Given the description of an element on the screen output the (x, y) to click on. 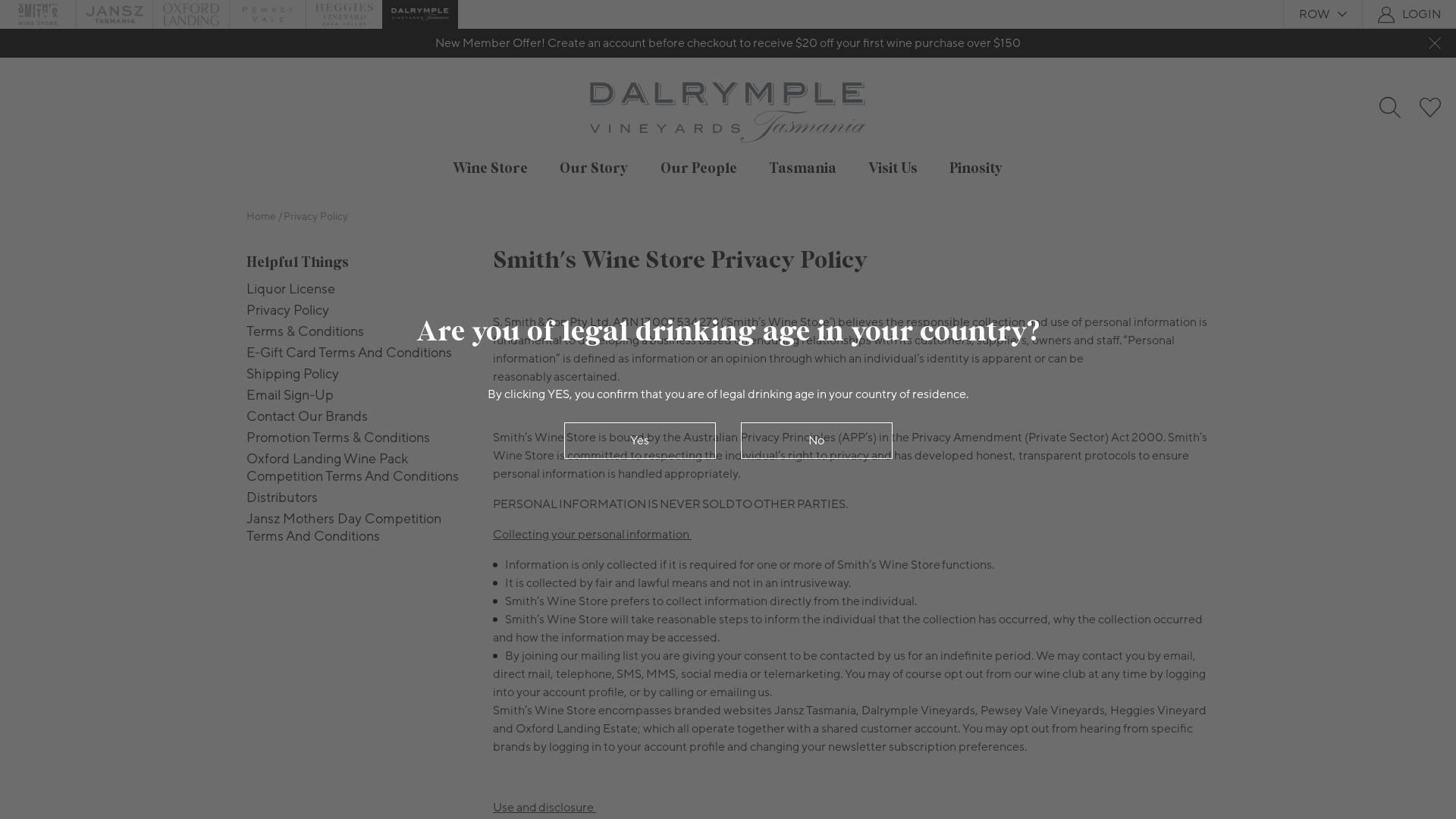
Our People Element type: text (698, 168)
Tasmania Element type: text (802, 168)
Promotion Terms & Conditions Element type: text (358, 437)
E-Gift Card Terms And Conditions Element type: text (358, 352)
Smiths Wine Store Element type: hover (37, 14)
No Element type: text (815, 439)
Smiths Wine Store Element type: hover (37, 14)
Shipping Policy Element type: text (358, 373)
Jansz Tasmania Element type: hover (114, 14)
LOGIN Element type: text (1421, 14)
Terms & Conditions Element type: text (358, 331)
Heggies Vineyard Element type: hover (343, 14)
Contact Our Brands Element type: text (358, 416)
Yes Element type: text (639, 439)
Heggies Vineyard Element type: hover (343, 14)
Oxford Landing Element type: hover (190, 14)
Jansz Tasmania Element type: hover (114, 14)
Email Sign-Up Element type: text (358, 395)
Dalrymple Vineyards Element type: hover (419, 14)
Pewsey Vale Vineyard Element type: hover (267, 14)
Privacy Policy Element type: text (358, 310)
Oxford Landing Wine Pack Competition Terms And Conditions Element type: text (358, 467)
Jansz Mothers Day Competition Terms And Conditions Element type: text (358, 527)
Privacy Policy Element type: text (315, 216)
Visit Us Element type: text (892, 168)
Wine Store Element type: text (489, 168)
Liquor License Element type: text (358, 289)
Our Story Element type: text (593, 168)
Dalrymple Vineyards Element type: hover (419, 14)
Pinosity Element type: text (976, 168)
Pewsey Vale Vineyard Element type: hover (267, 14)
Distributors Element type: text (358, 497)
Oxford Landing Element type: hover (190, 14)
Home Element type: text (261, 216)
